Given the description of an element on the screen output the (x, y) to click on. 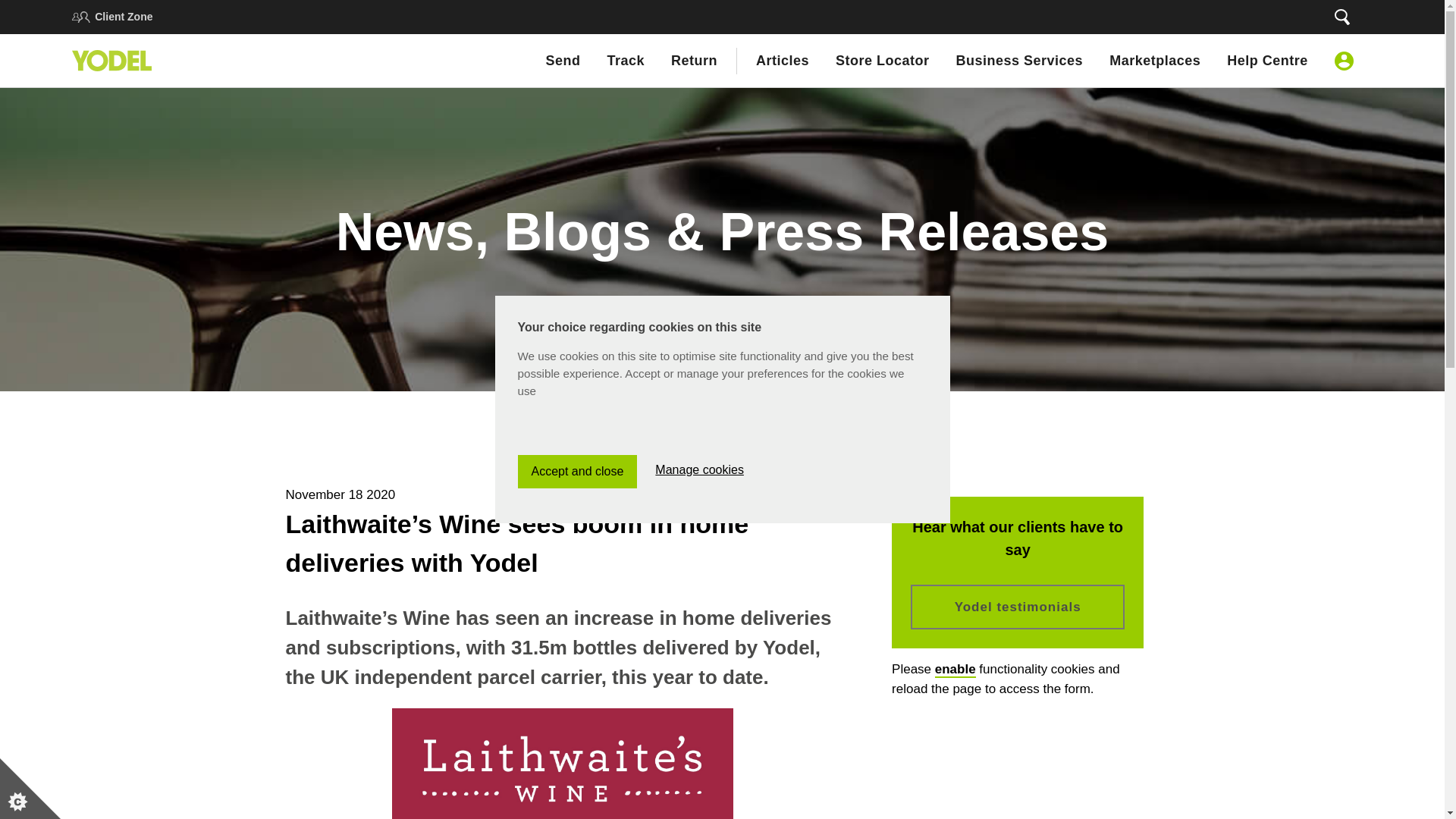
Send (561, 59)
Accept and close (576, 629)
Manage cookies (699, 616)
Articles (782, 59)
Client Zone (123, 17)
Store Locator (882, 59)
Return (694, 59)
Track (626, 59)
